Given the description of an element on the screen output the (x, y) to click on. 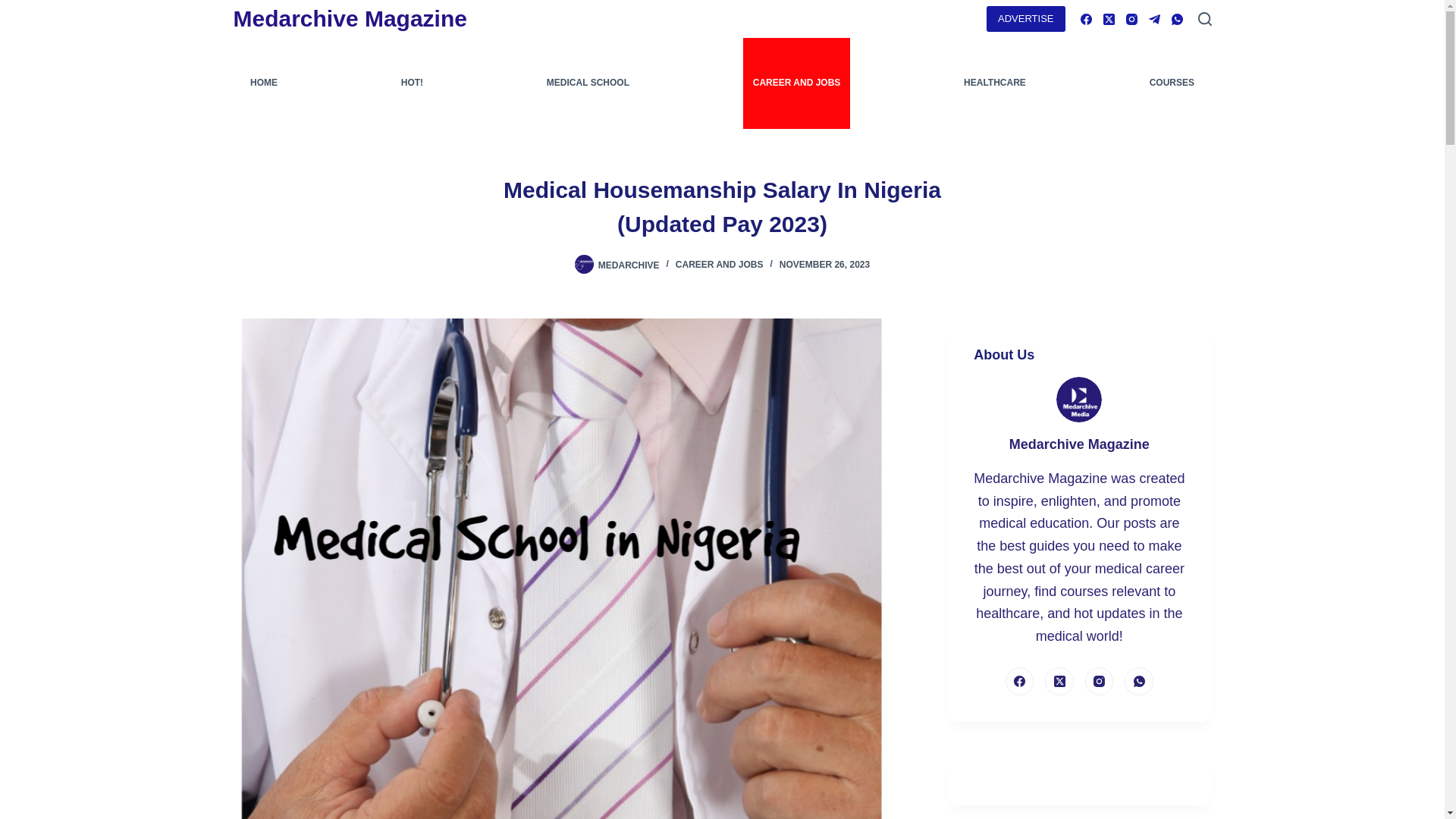
Skip to content (15, 7)
HEALTHCARE (995, 82)
ADVERTISE (1025, 18)
MEDARCHIVE (628, 264)
CAREER AND JOBS (796, 82)
Medarchive Magazine (349, 18)
CAREER AND JOBS (718, 264)
MEDICAL SCHOOL (588, 82)
Posts by Medarchive (628, 264)
